Given the description of an element on the screen output the (x, y) to click on. 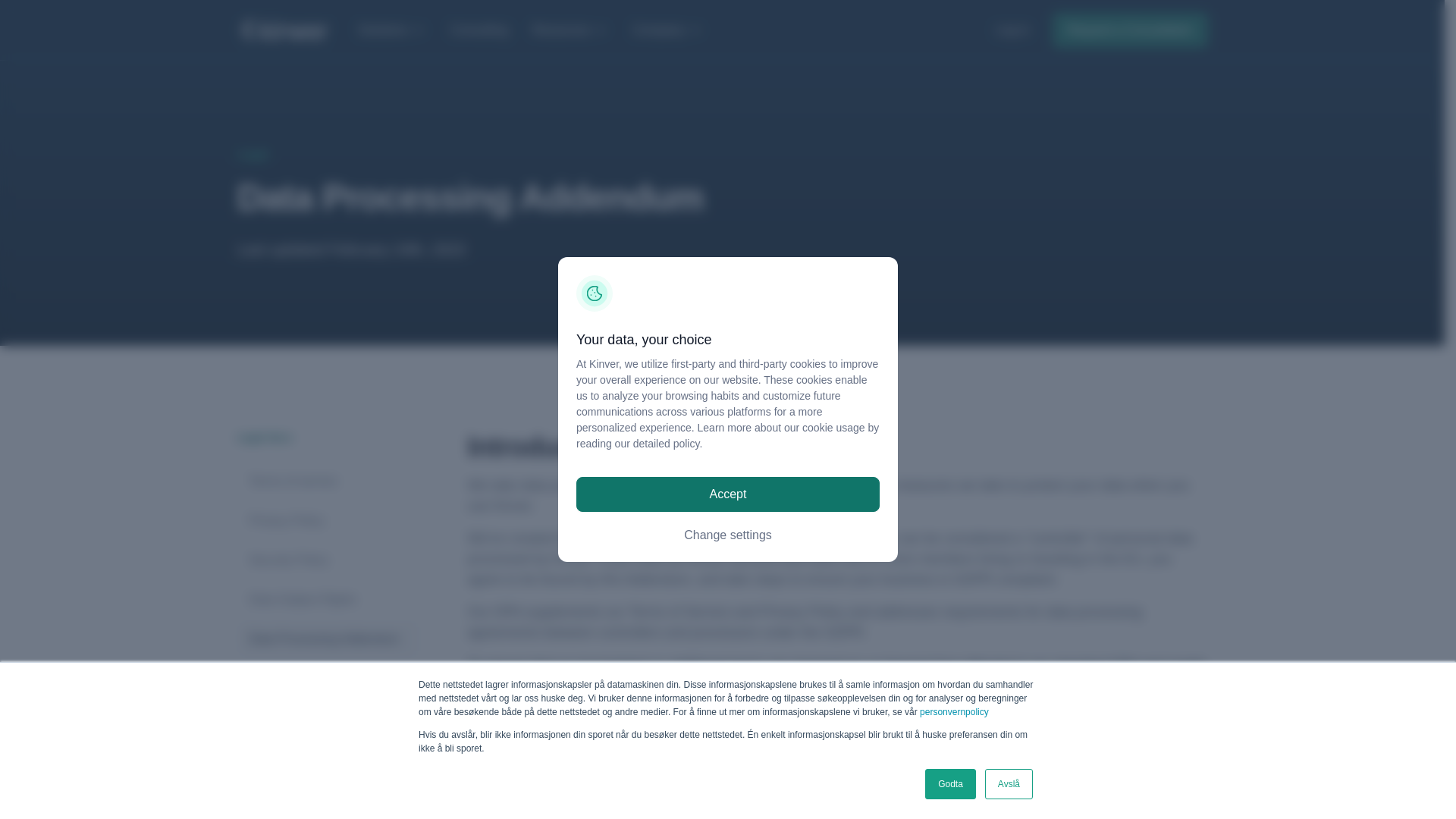
Terms of service (327, 481)
Consulting (478, 30)
Godta (949, 784)
Privacy Policy (327, 520)
List of Sub-processors (327, 718)
Security Policy (327, 560)
Log in (1012, 29)
Cookie Policy (327, 678)
policy (686, 443)
Change settings (727, 534)
Request a Consultation (1129, 29)
Data Subject Rights (327, 599)
personvernpolicy (954, 711)
Accept (727, 493)
Data Processing Addendum (327, 638)
